Given the description of an element on the screen output the (x, y) to click on. 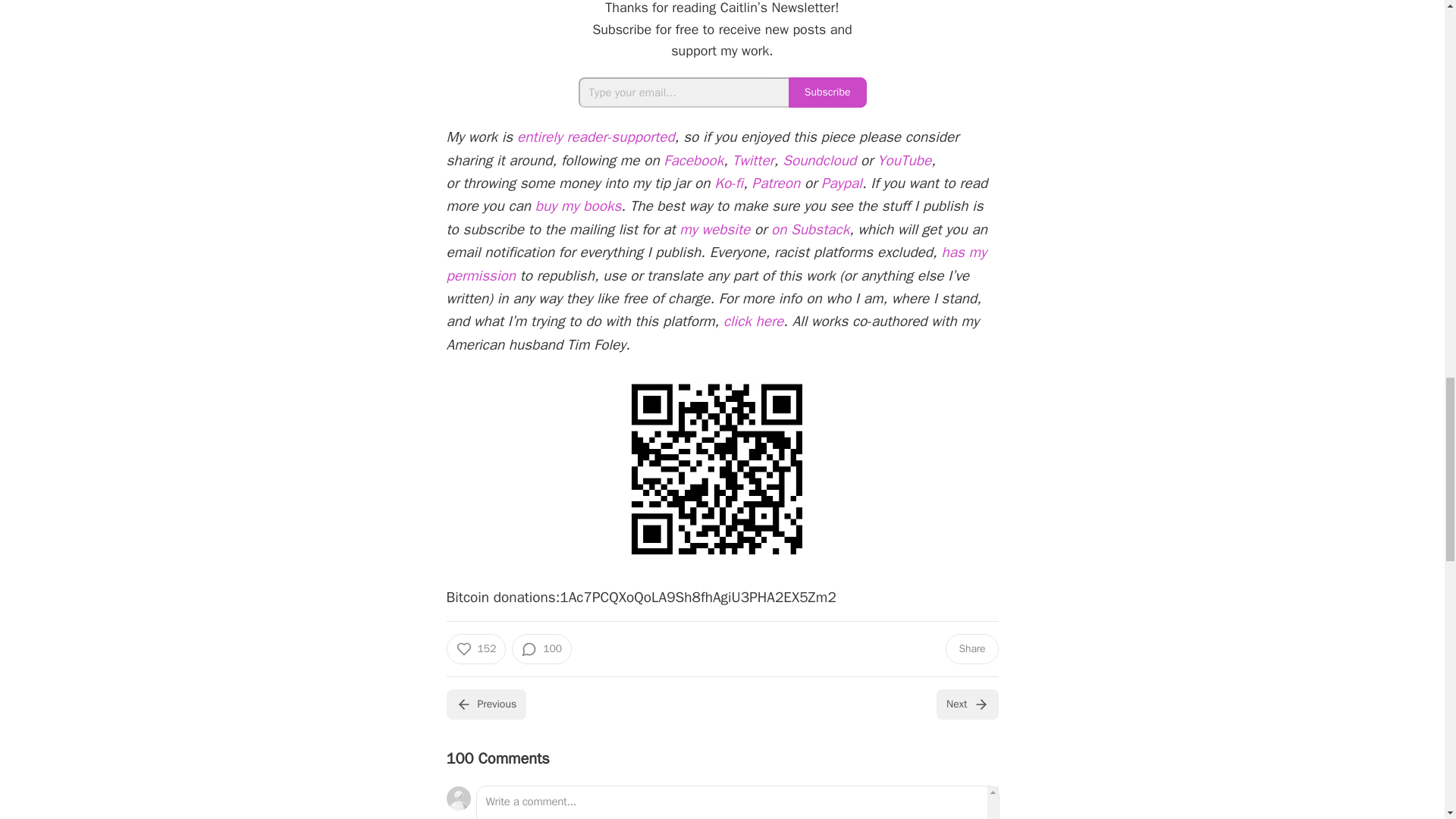
my website (714, 229)
has my permission (716, 263)
Patreon (776, 183)
entirely reader-supported (595, 136)
Facebook (693, 160)
click here (753, 321)
YouTube (904, 160)
Ko-fi (728, 183)
Twitter (753, 160)
buy my books (578, 206)
